Given the description of an element on the screen output the (x, y) to click on. 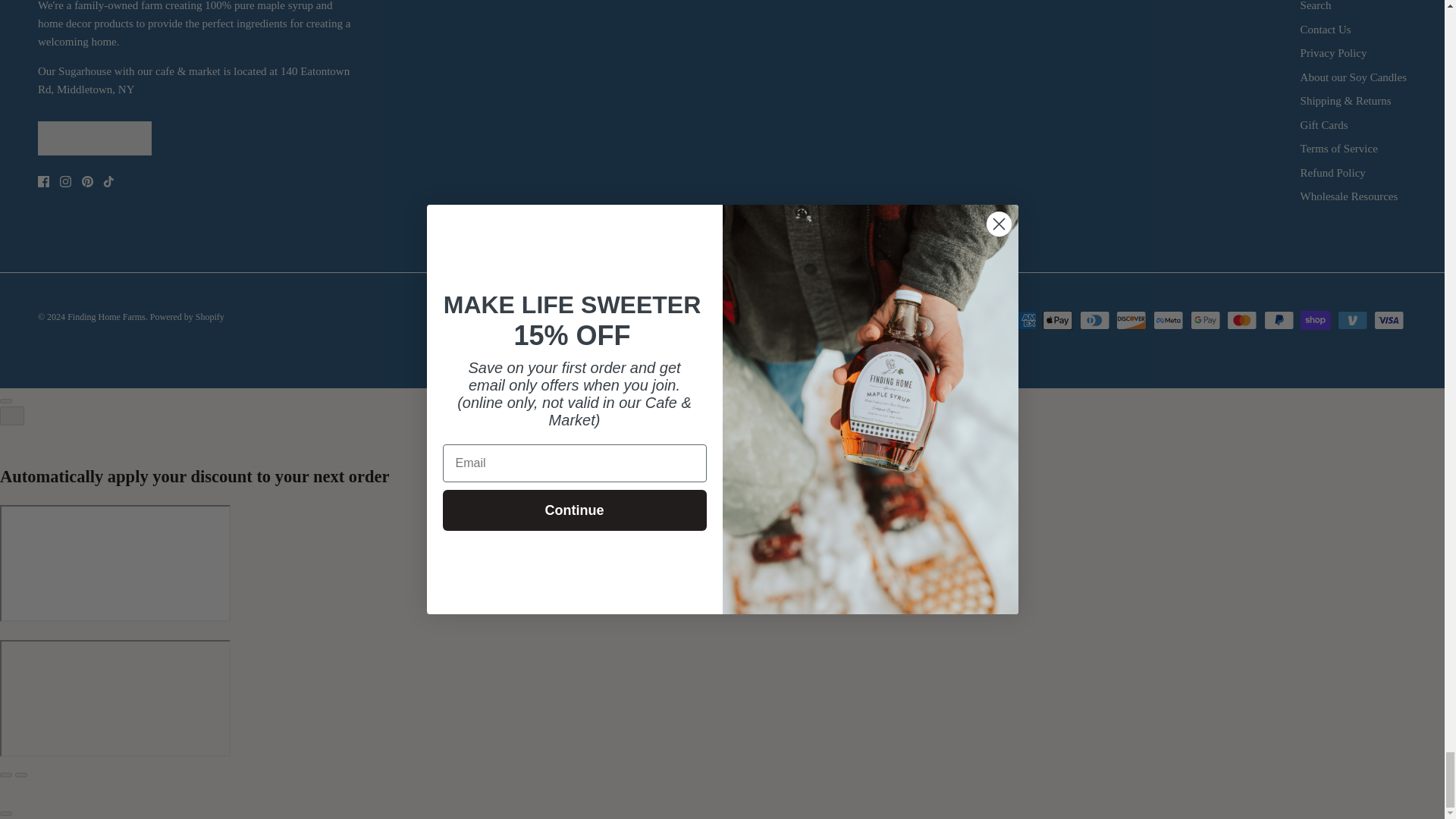
Instagram (65, 181)
Google Pay (1205, 320)
Pinterest (87, 181)
Amazon (983, 320)
American Express (1021, 320)
Discover (1130, 320)
Shop Pay (1315, 320)
Apple Pay (1057, 320)
Diners Club (1094, 320)
Facebook (43, 181)
Meta Pay (1168, 320)
PayPal (1278, 320)
Mastercard (1241, 320)
